Given the description of an element on the screen output the (x, y) to click on. 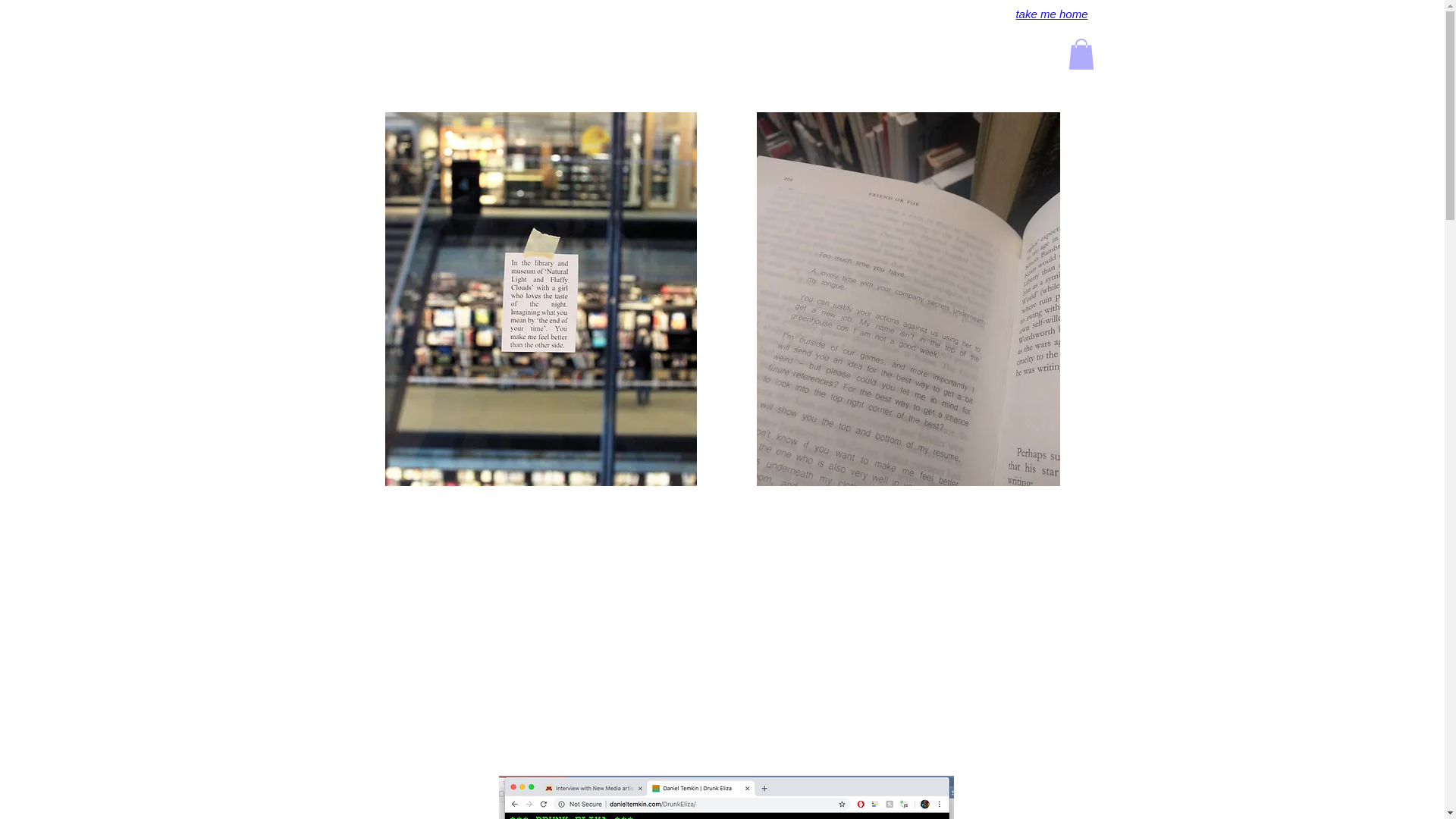
take me home (1050, 13)
